Given the description of an element on the screen output the (x, y) to click on. 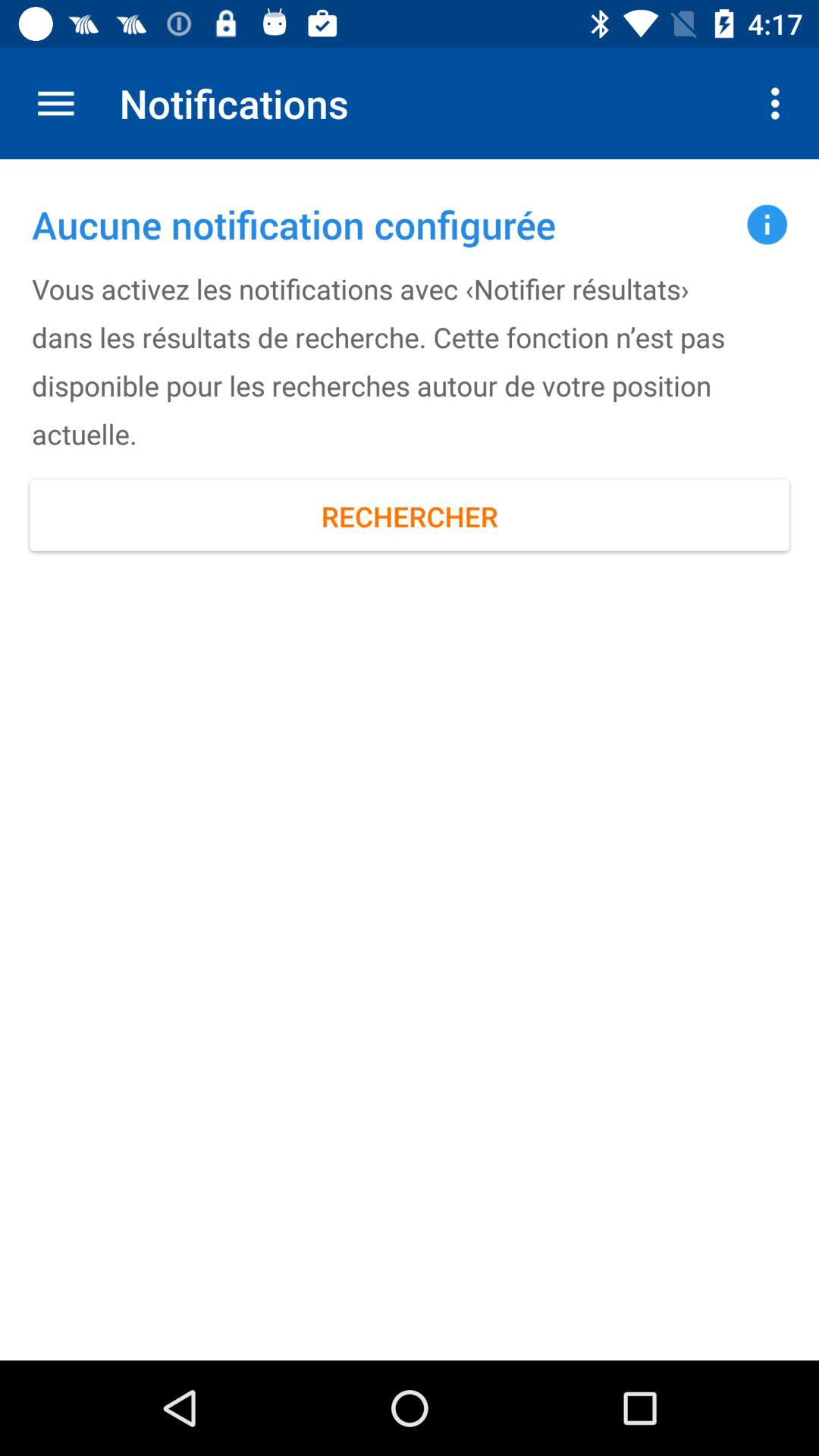
open rechercher (409, 516)
